Given the description of an element on the screen output the (x, y) to click on. 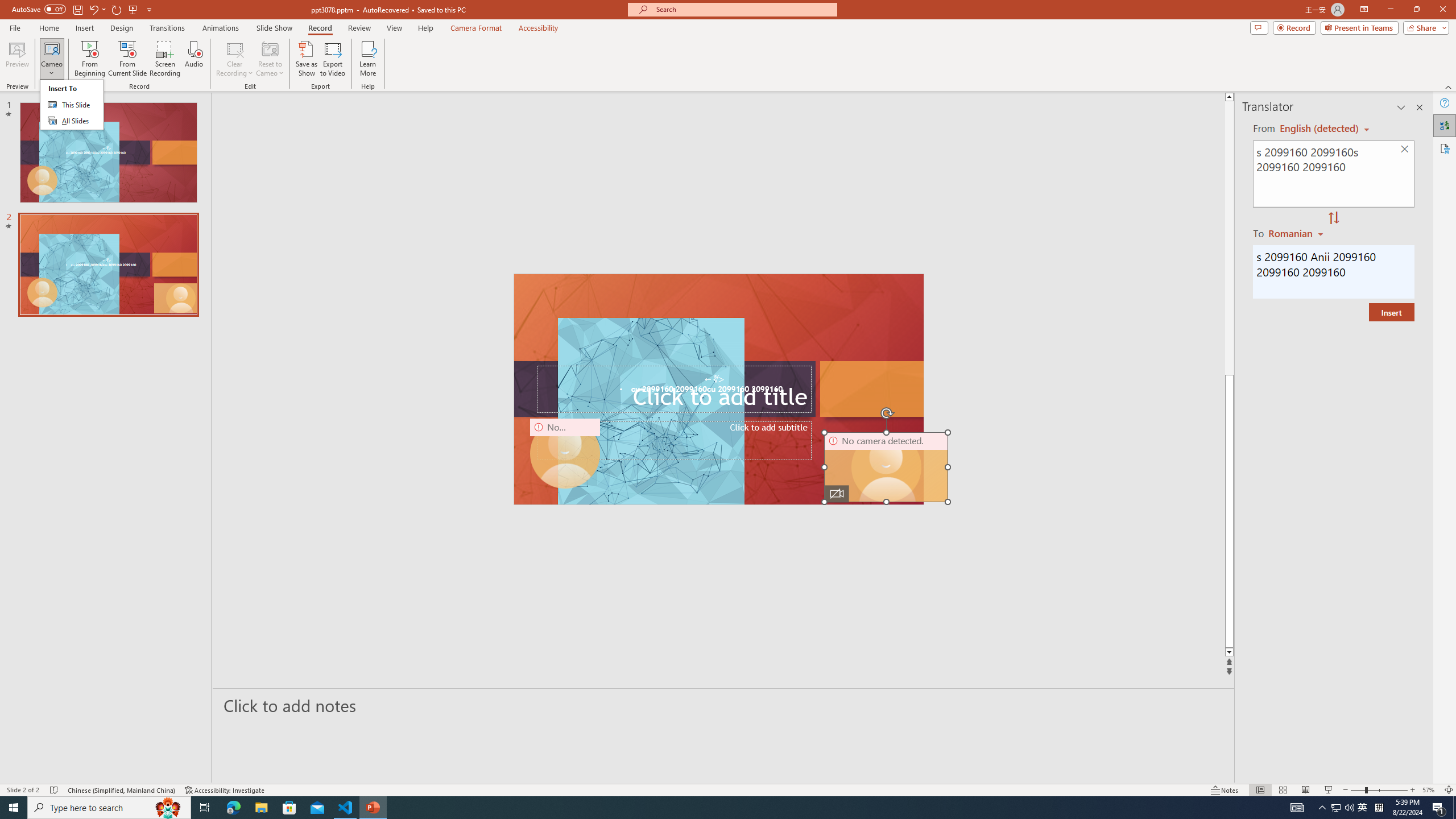
Camera 11, No camera detected. (886, 466)
An abstract genetic concept (718, 389)
Zoom 57% (1430, 790)
